Given the description of an element on the screen output the (x, y) to click on. 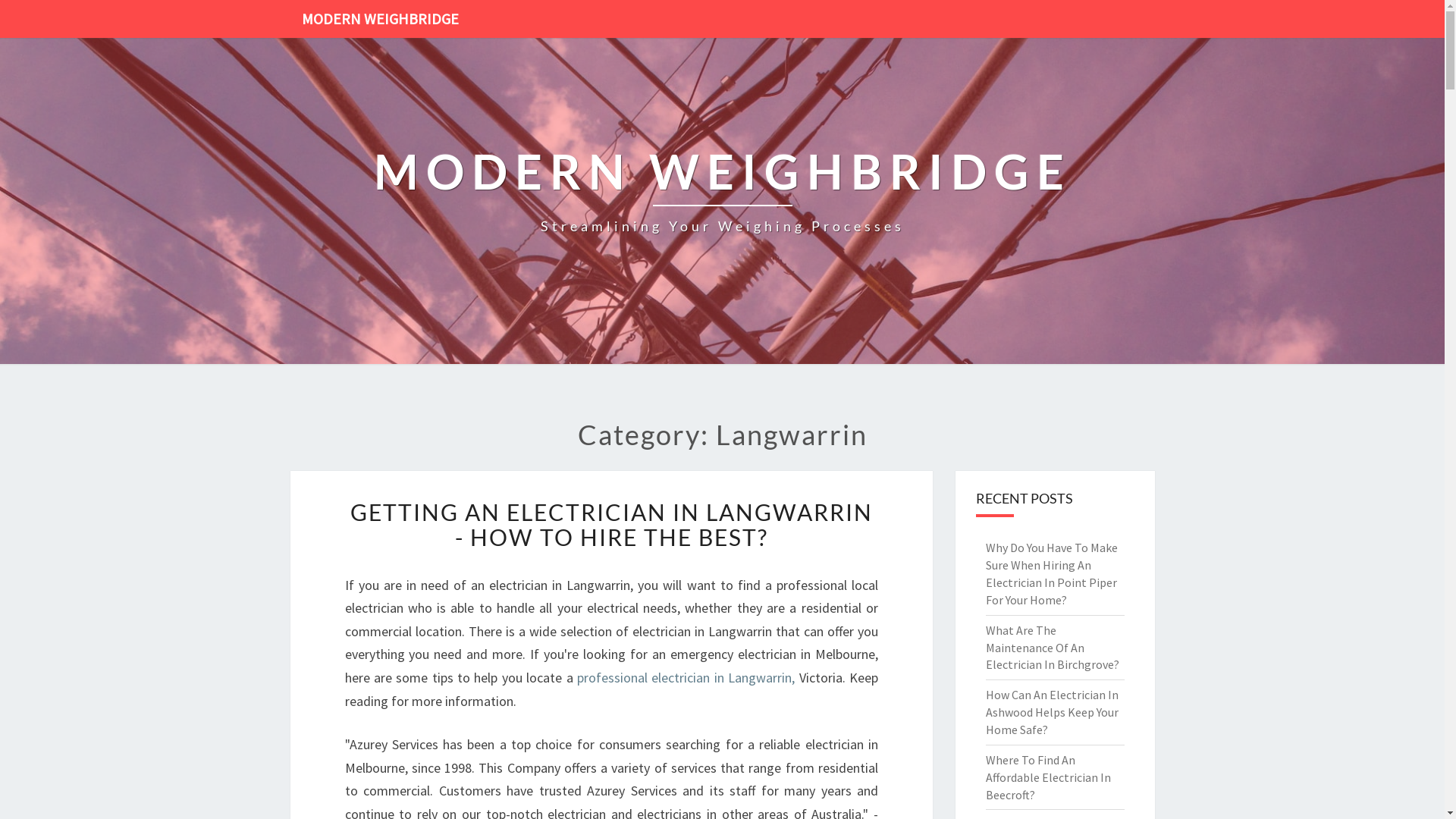
Where To Find An Affordable Electrician In Beecroft? Element type: text (1047, 777)
GETTING AN ELECTRICIAN IN LANGWARRIN - HOW TO HIRE THE BEST? Element type: text (611, 524)
How Can An Electrician In Ashwood Helps Keep Your Home Safe? Element type: text (1051, 712)
MODERN WEIGHBRIDGE Element type: text (379, 18)
What Are The Maintenance Of An Electrician In Birchgrove? Element type: text (1052, 647)
MODERN WEIGHBRIDGE
Streamlining Your Weighing Processes Element type: text (721, 200)
professional electrician in Langwarrin, Element type: text (685, 677)
